Given the description of an element on the screen output the (x, y) to click on. 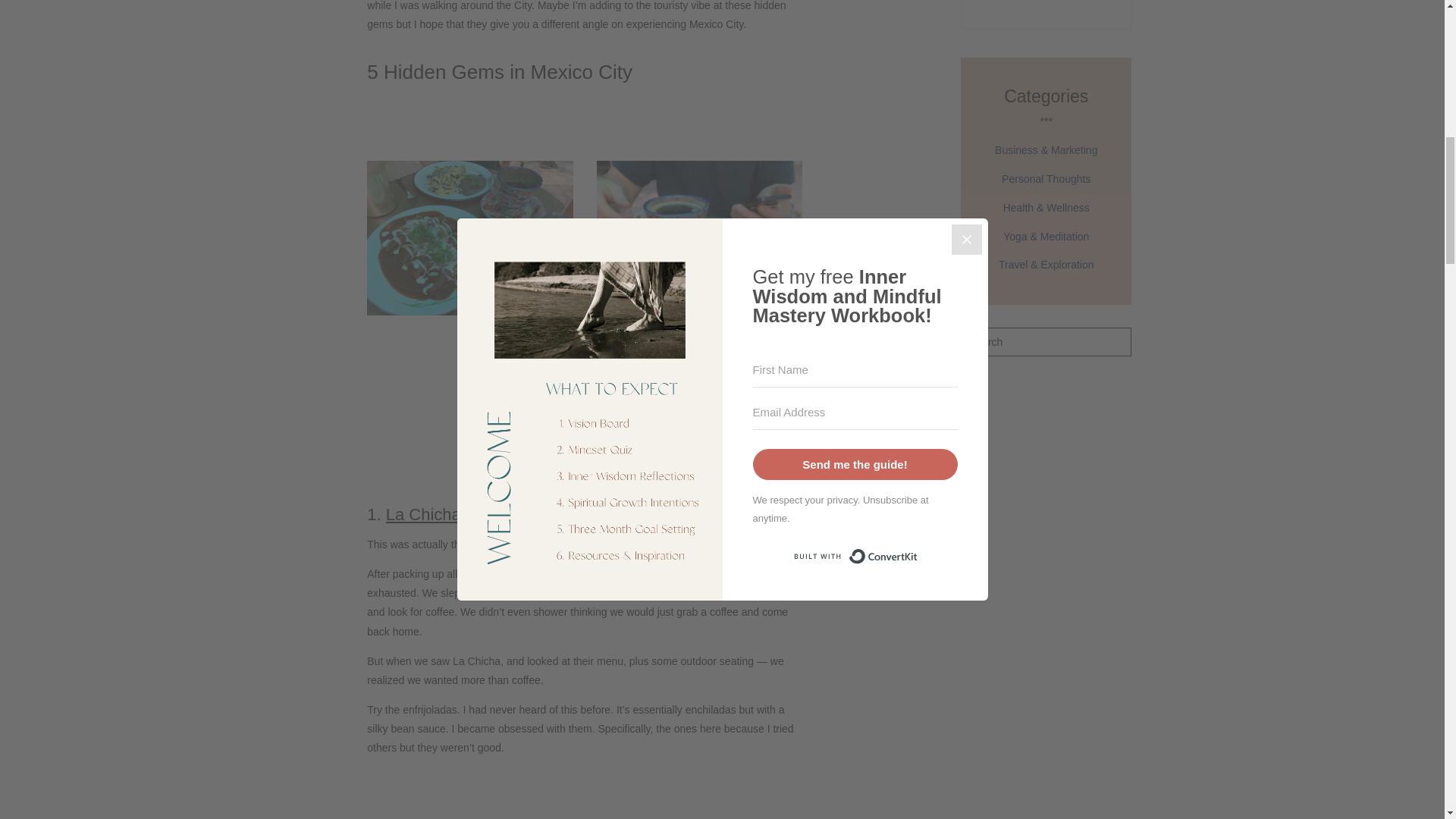
La Chicha (423, 514)
Roma Norte Oct 2021 (703, 544)
